Given the description of an element on the screen output the (x, y) to click on. 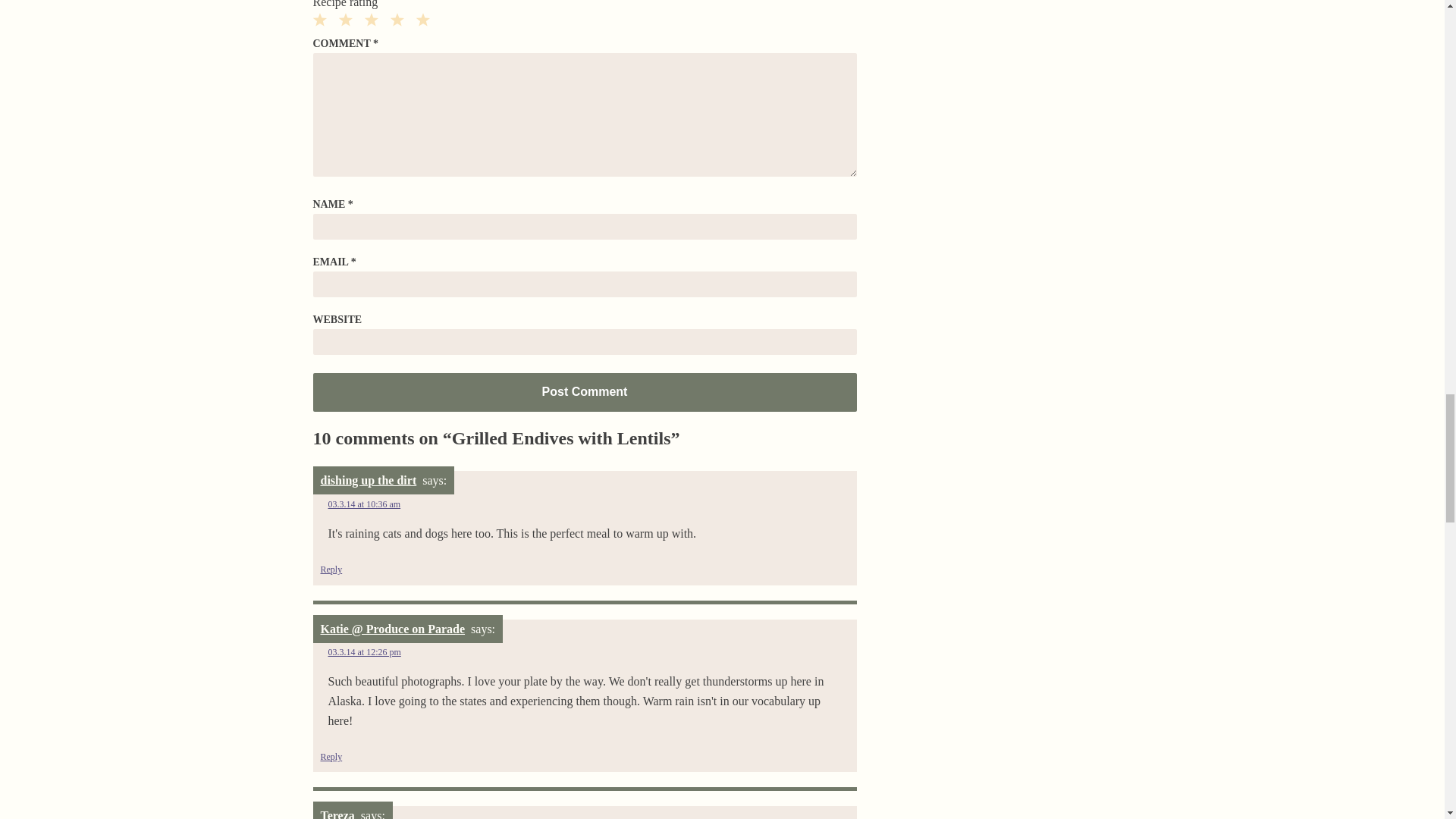
Reply (331, 569)
03.3.14 at 10:36 am (363, 503)
Post Comment (584, 392)
03.3.14 at 12:26 pm (363, 652)
Post Comment (584, 392)
Tereza (336, 814)
Reply (331, 757)
dishing up the dirt (368, 480)
